Given the description of an element on the screen output the (x, y) to click on. 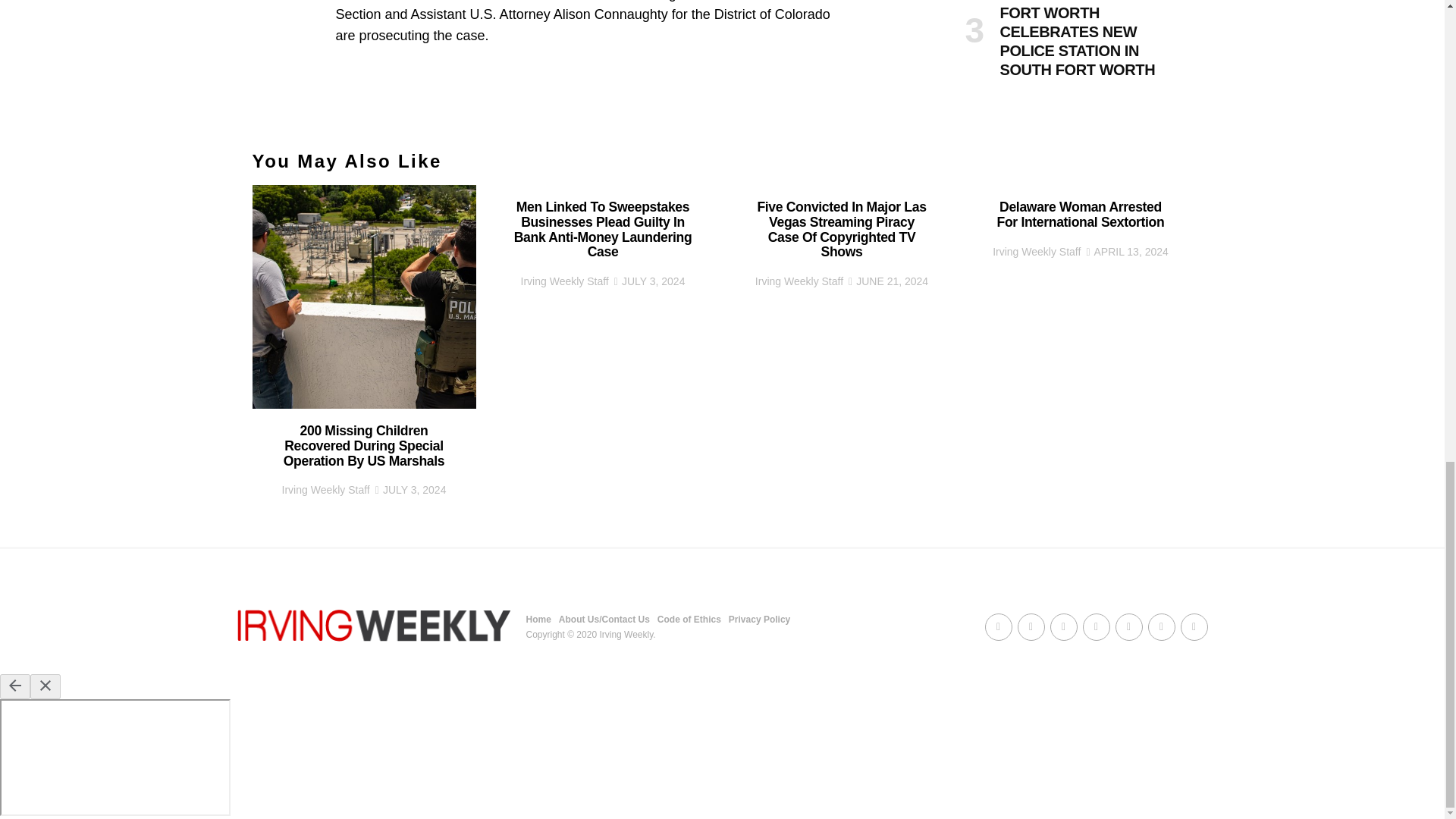
Posts by Irving Weekly Staff (564, 281)
Posts by Irving Weekly Staff (325, 490)
Posts by Irving Weekly Staff (1036, 251)
Posts by Irving Weekly Staff (799, 281)
